Given the description of an element on the screen output the (x, y) to click on. 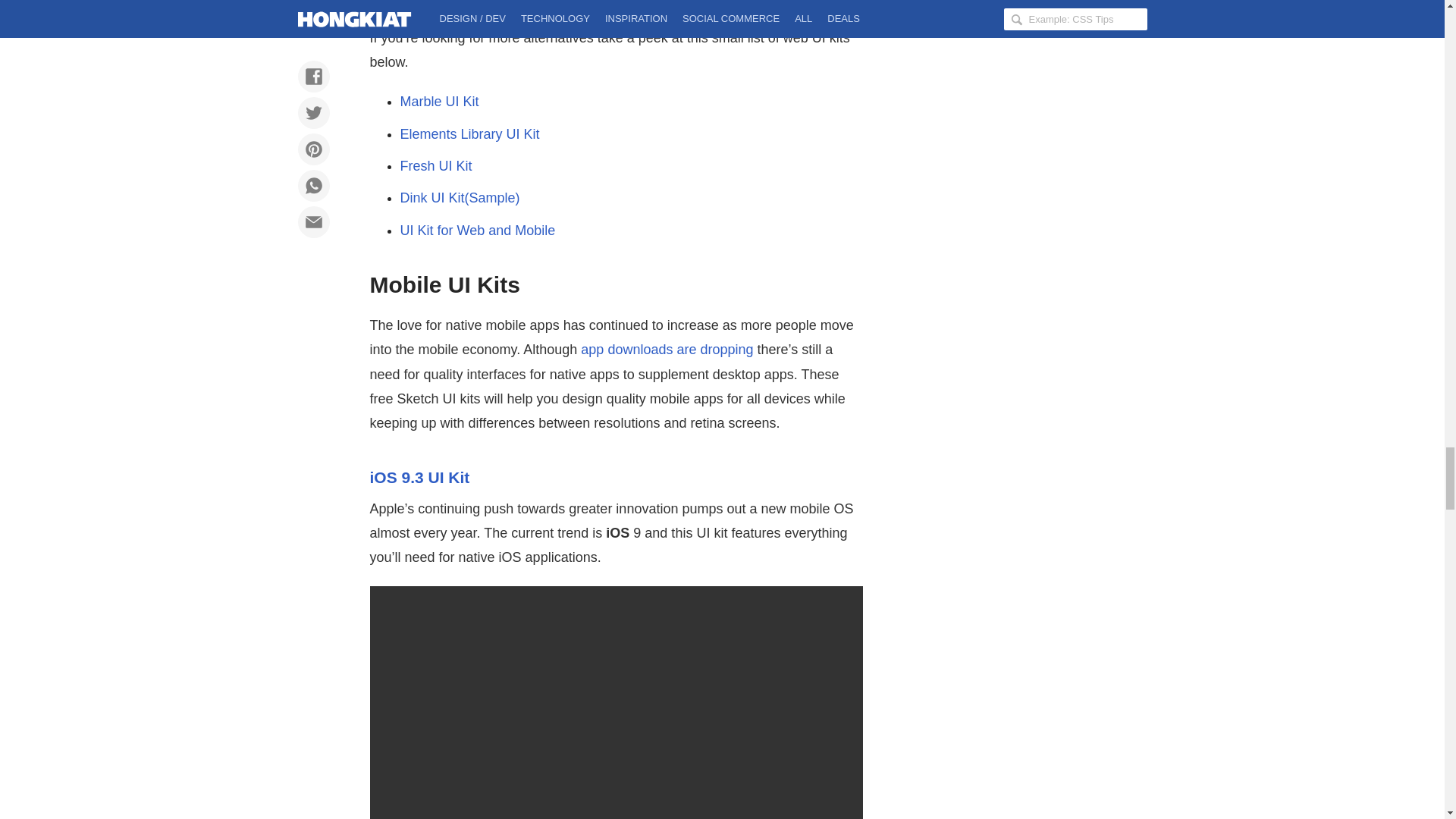
Marble UI Kit (439, 101)
